Given the description of an element on the screen output the (x, y) to click on. 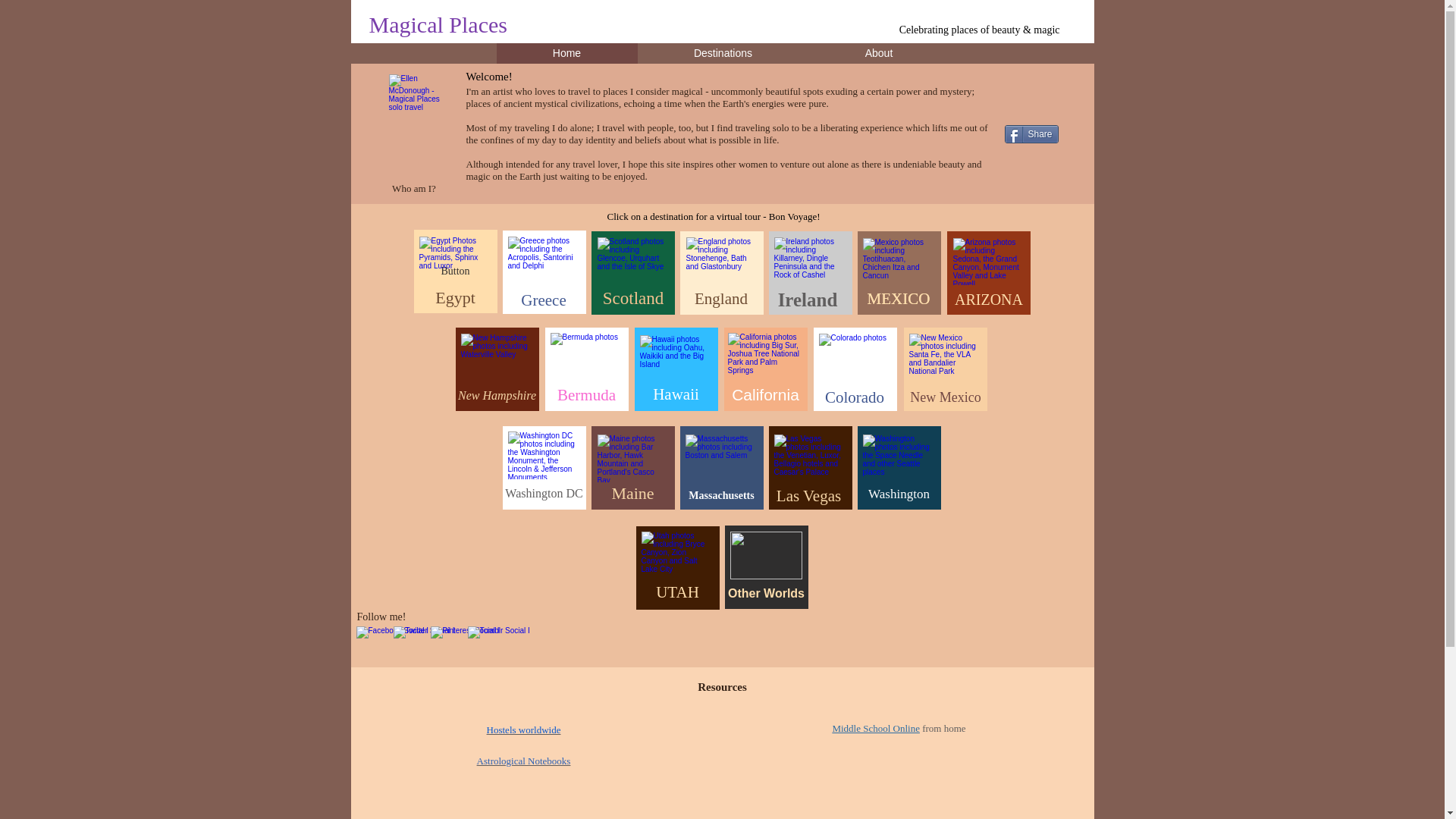
Bermuda photos  (586, 356)
Greece photos including the Acropolis, Santorini and Delphi (543, 260)
Hawaii photos including Oahu, Waikiki and the Big Island (675, 358)
Colorado photos (854, 357)
England photos including Stonehenge, Bath and Glastonbury (721, 261)
New Hampshire photos including Waterville Valley (496, 357)
Share (1031, 134)
Pin to Pinterest (1029, 109)
Mexico photos including Teotihuacan, Chichen Itza and Cancun (898, 261)
Button (455, 271)
